Given the description of an element on the screen output the (x, y) to click on. 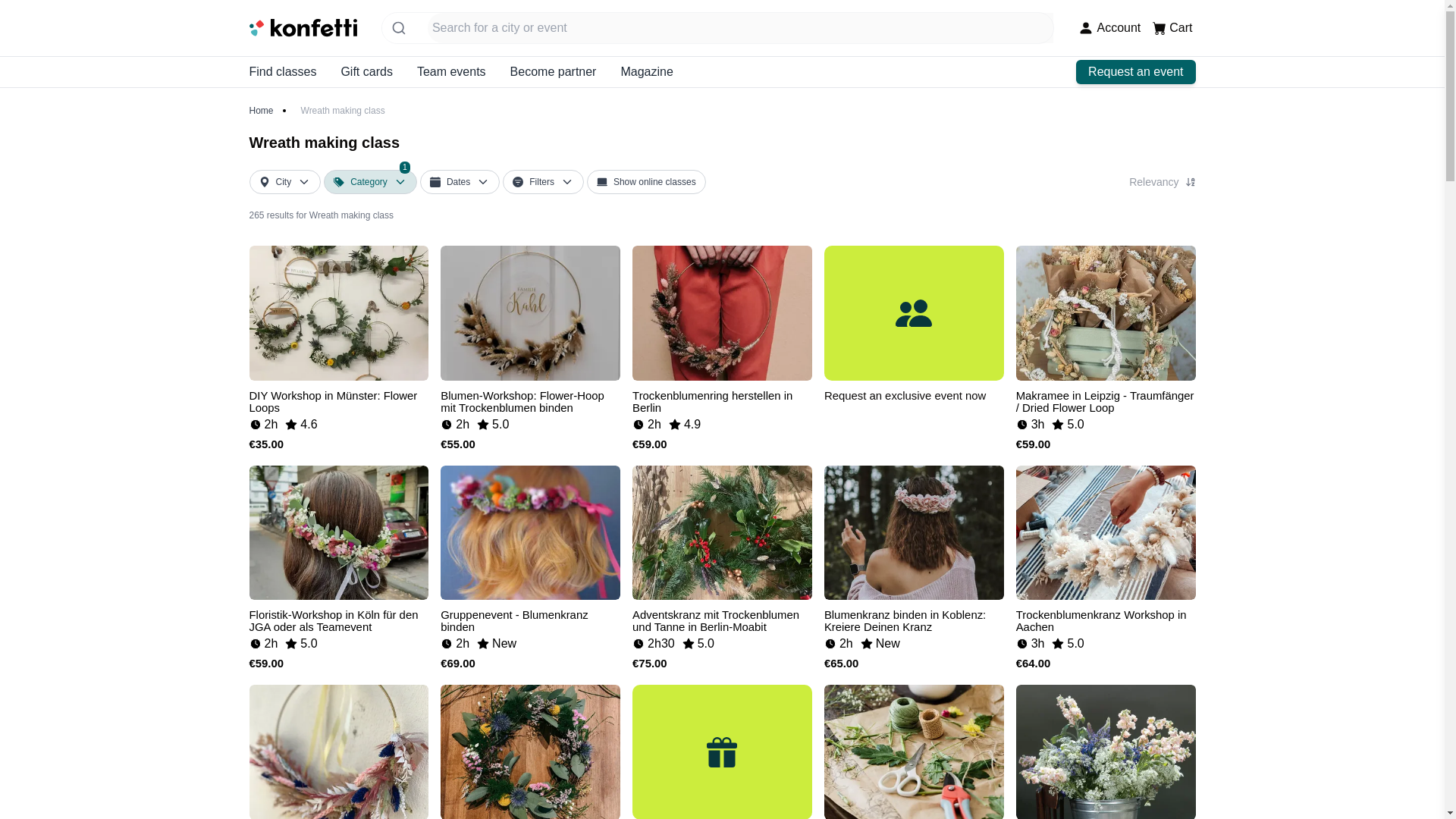
Become partner (553, 71)
Trockenblumenkranz Workshop in Aachen (1105, 616)
Blumen-Workshop: Flower-Hoop mit Trockenblumen binden (530, 397)
Blumenkranz binden in Koblenz: Kreiere Deinen Kranz (659, 182)
Home (914, 616)
Gruppenevent - Blumenkranz binden (260, 110)
Find classes (530, 616)
Team events (281, 71)
Account (451, 71)
Adventskranz mit Trockenblumen und Tanne in Berlin-Moabit (1109, 27)
Trockenblumenring herstellen in Berlin (721, 616)
Magazine (721, 397)
